Given the description of an element on the screen output the (x, y) to click on. 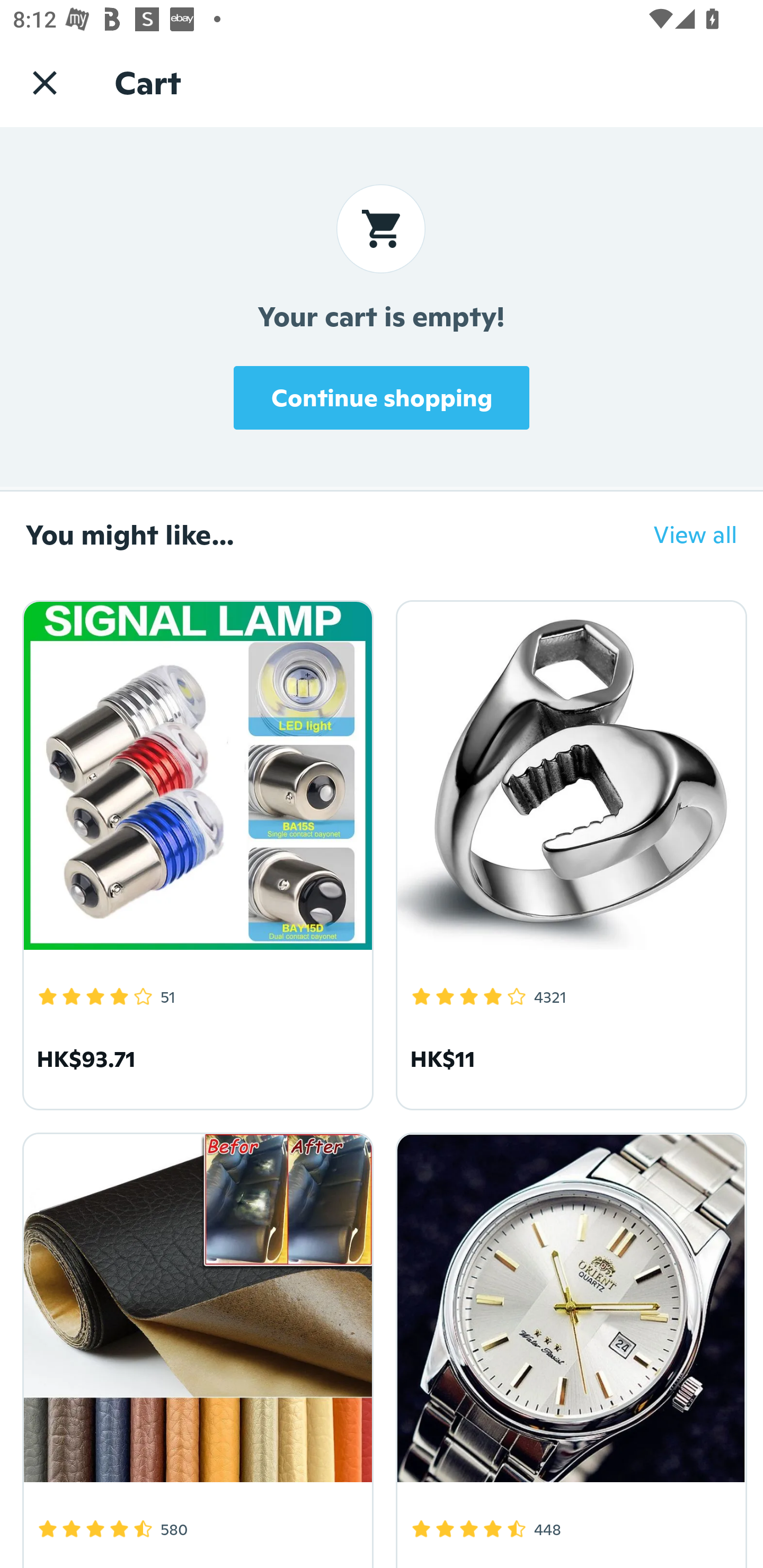
Navigate up (44, 82)
Continue shopping (381, 397)
View all (682, 534)
4 Star Rating 51 HK$93.71 (194, 852)
4 Star Rating 4321 HK$11 (567, 852)
4.4 Star Rating 580 (194, 1346)
4.6 Star Rating 448 (567, 1346)
